Given the description of an element on the screen output the (x, y) to click on. 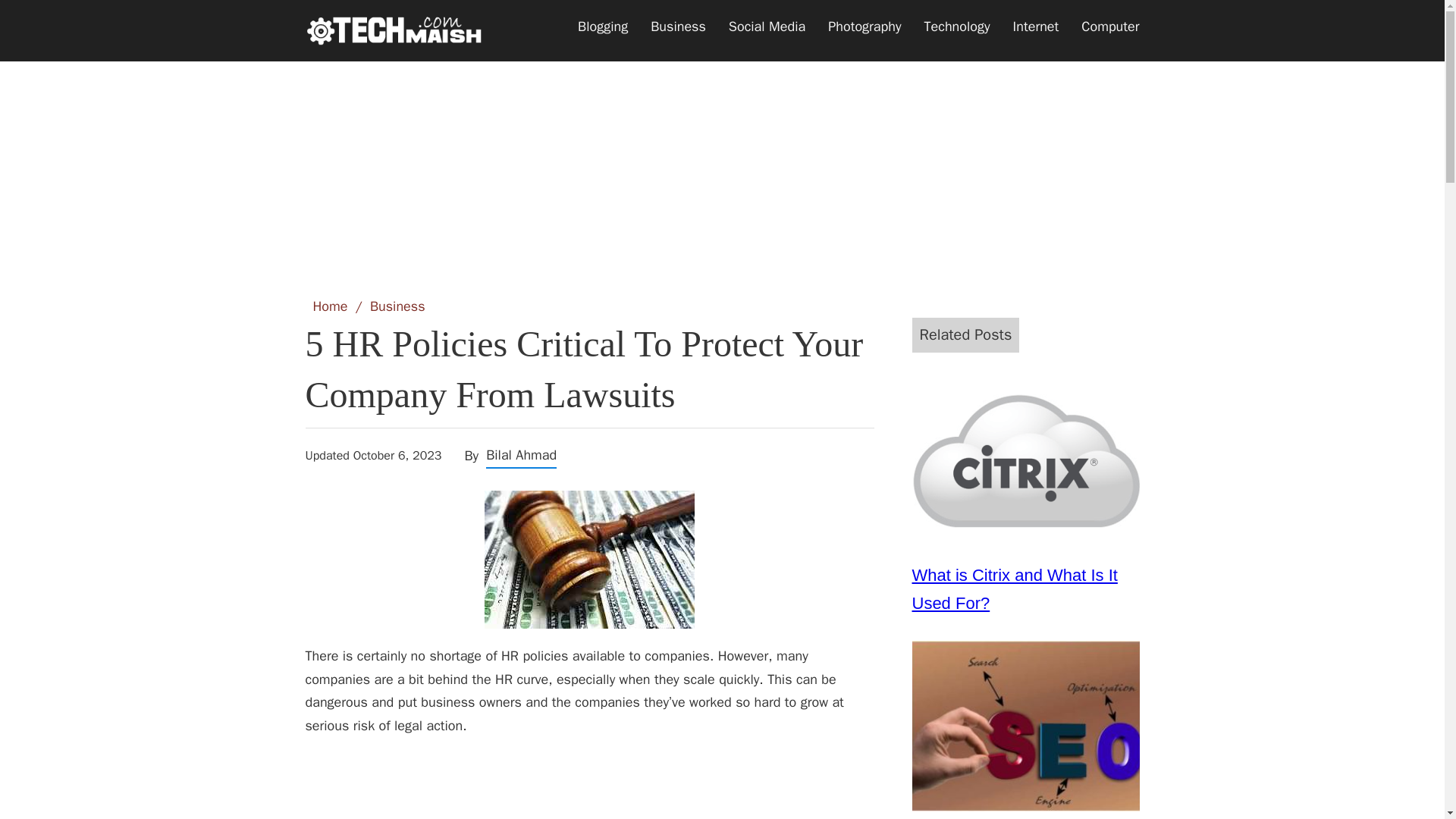
Advertisement (721, 159)
Social Media (767, 26)
Home (330, 306)
Business (397, 306)
Photography (864, 26)
Technology (957, 26)
Advertisement (588, 786)
Business (678, 26)
Blogging (602, 26)
Bilal Ahmad (521, 454)
